Given the description of an element on the screen output the (x, y) to click on. 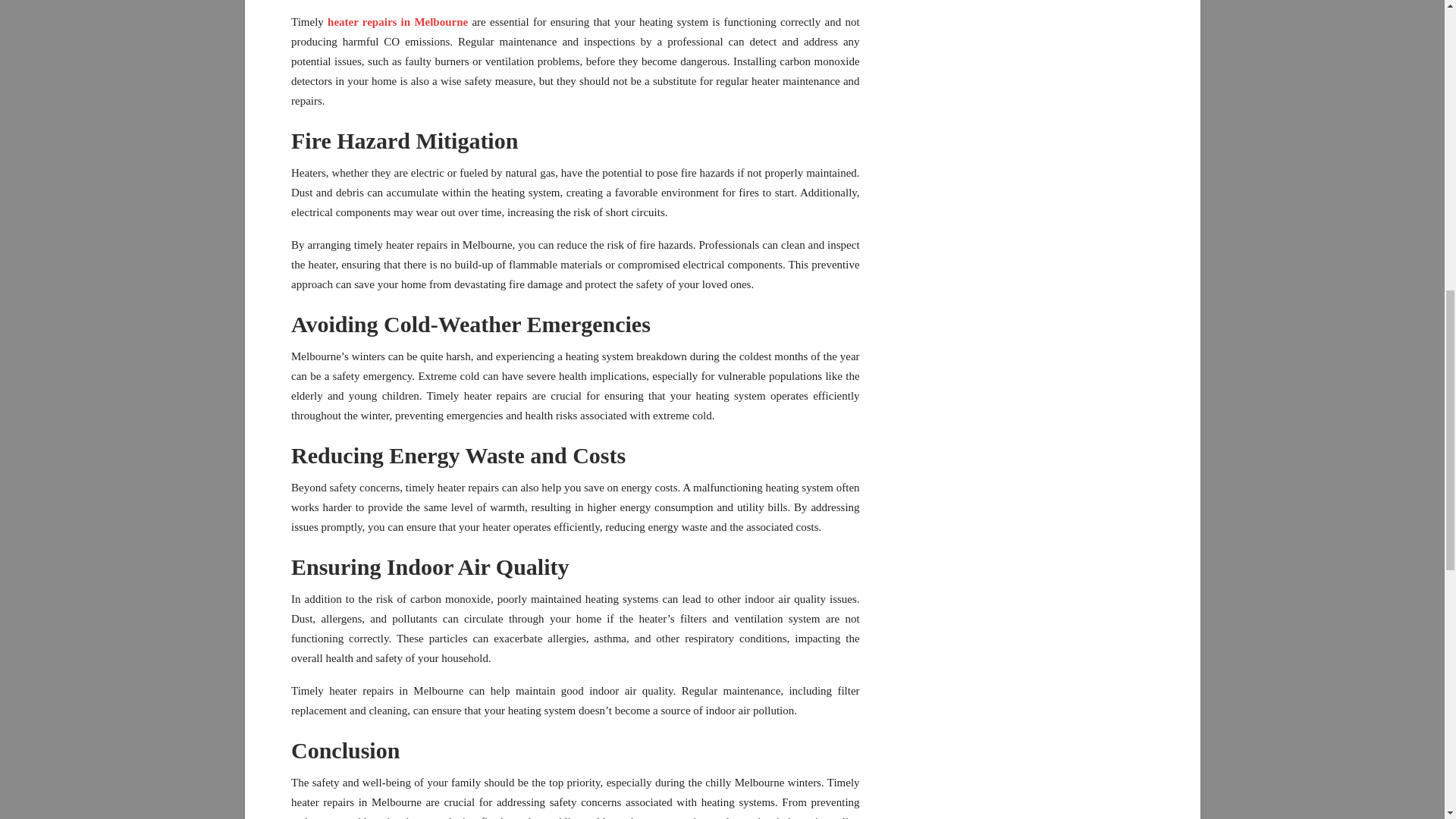
heater repairs in Melbourne (397, 21)
